Given the description of an element on the screen output the (x, y) to click on. 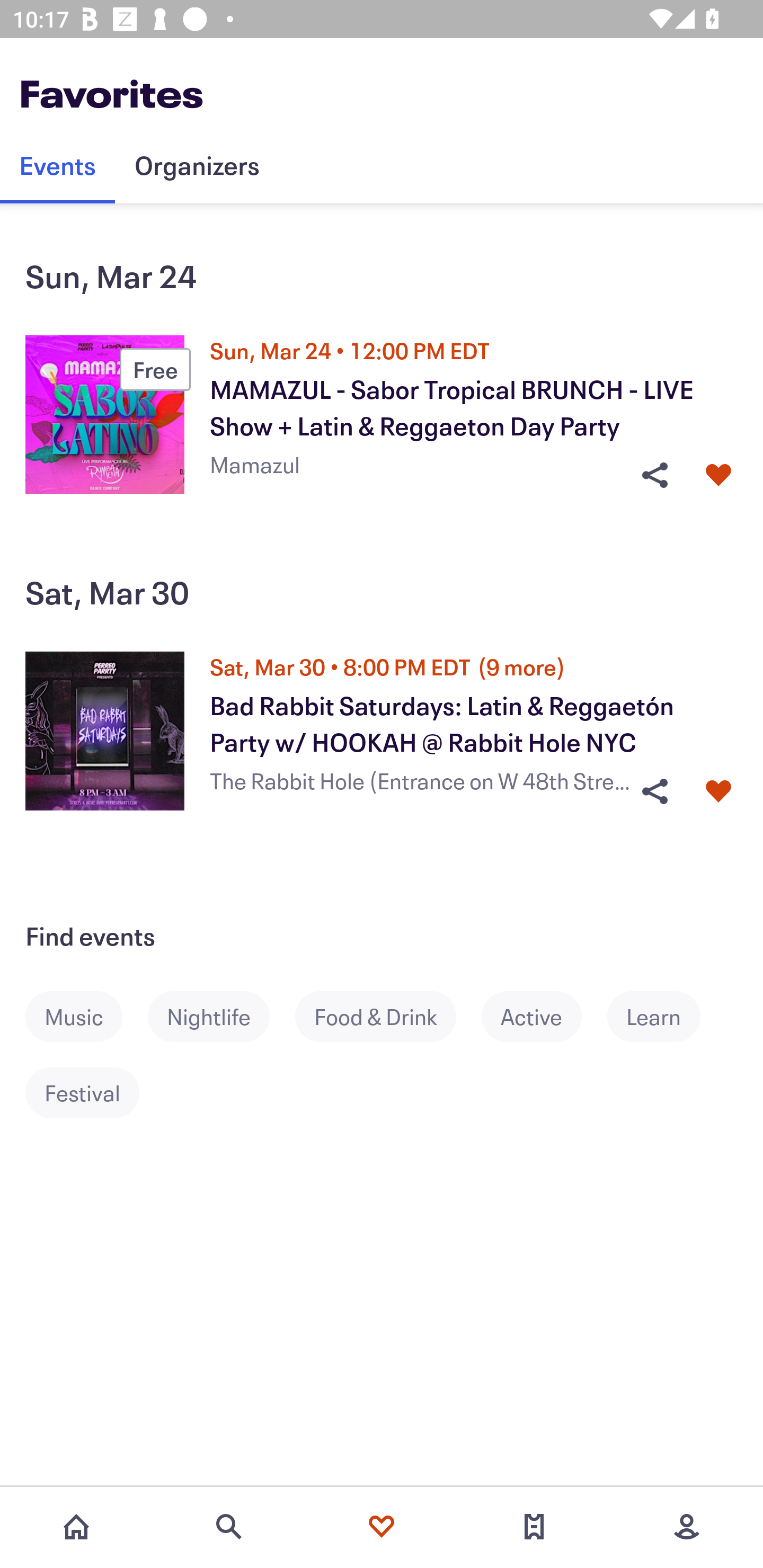
Organizers (196, 165)
Share Event (654, 474)
Unlike event (718, 474)
Share Event (654, 791)
Unlike event (718, 791)
Music (86, 1016)
Nightlife (221, 1016)
Food & Drink (388, 1016)
Active (544, 1016)
Learn (666, 1016)
Festival (94, 1092)
Home (76, 1526)
Search events (228, 1526)
Favorites (381, 1526)
Tickets (533, 1526)
More (686, 1526)
